Given the description of an element on the screen output the (x, y) to click on. 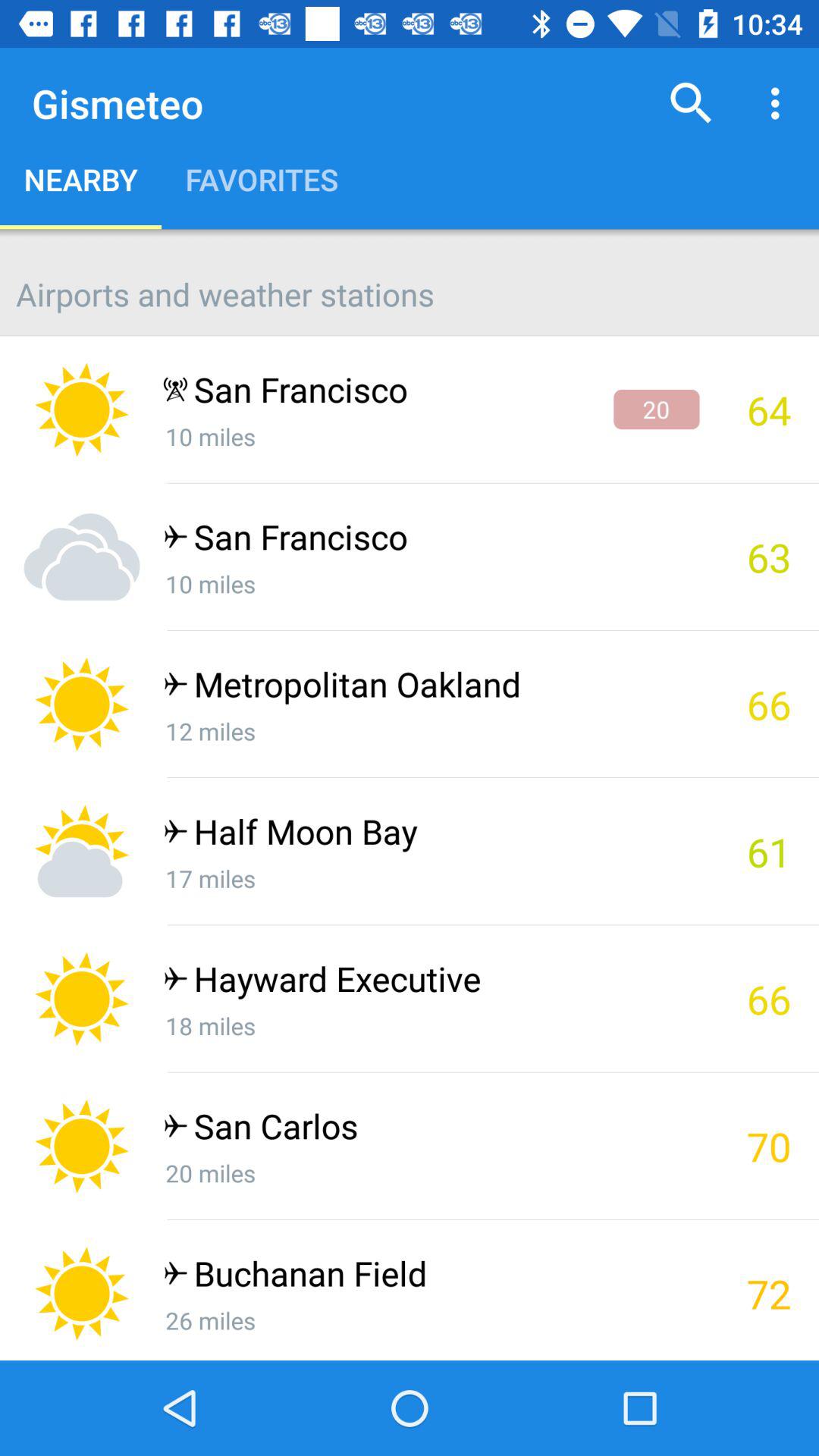
scroll to 18 miles icon (431, 1025)
